Given the description of an element on the screen output the (x, y) to click on. 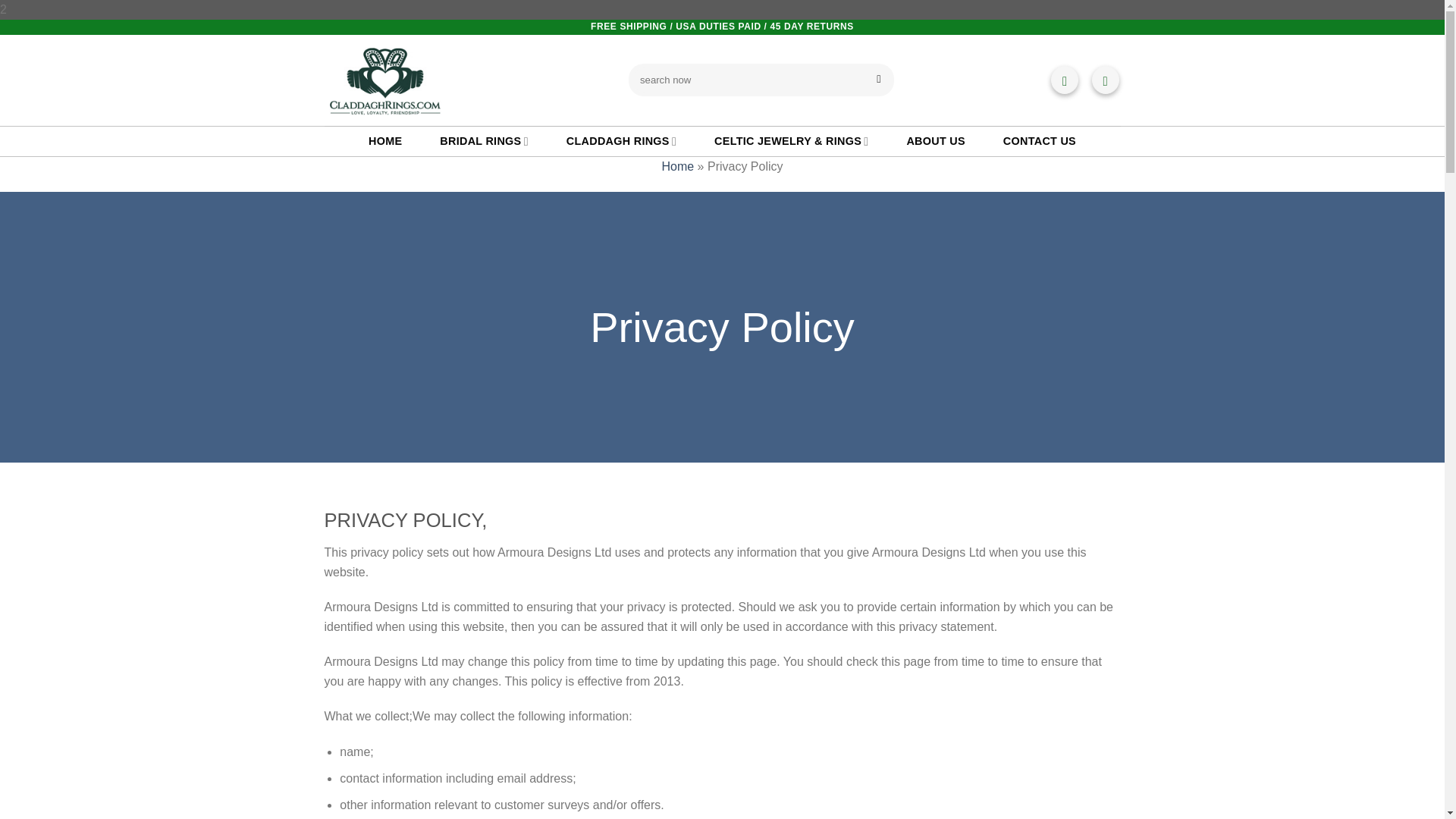
BRIDAL RINGS (483, 141)
Search (878, 79)
Cart (1064, 80)
HOME (384, 140)
CLADDAGH RINGS (621, 141)
